Given the description of an element on the screen output the (x, y) to click on. 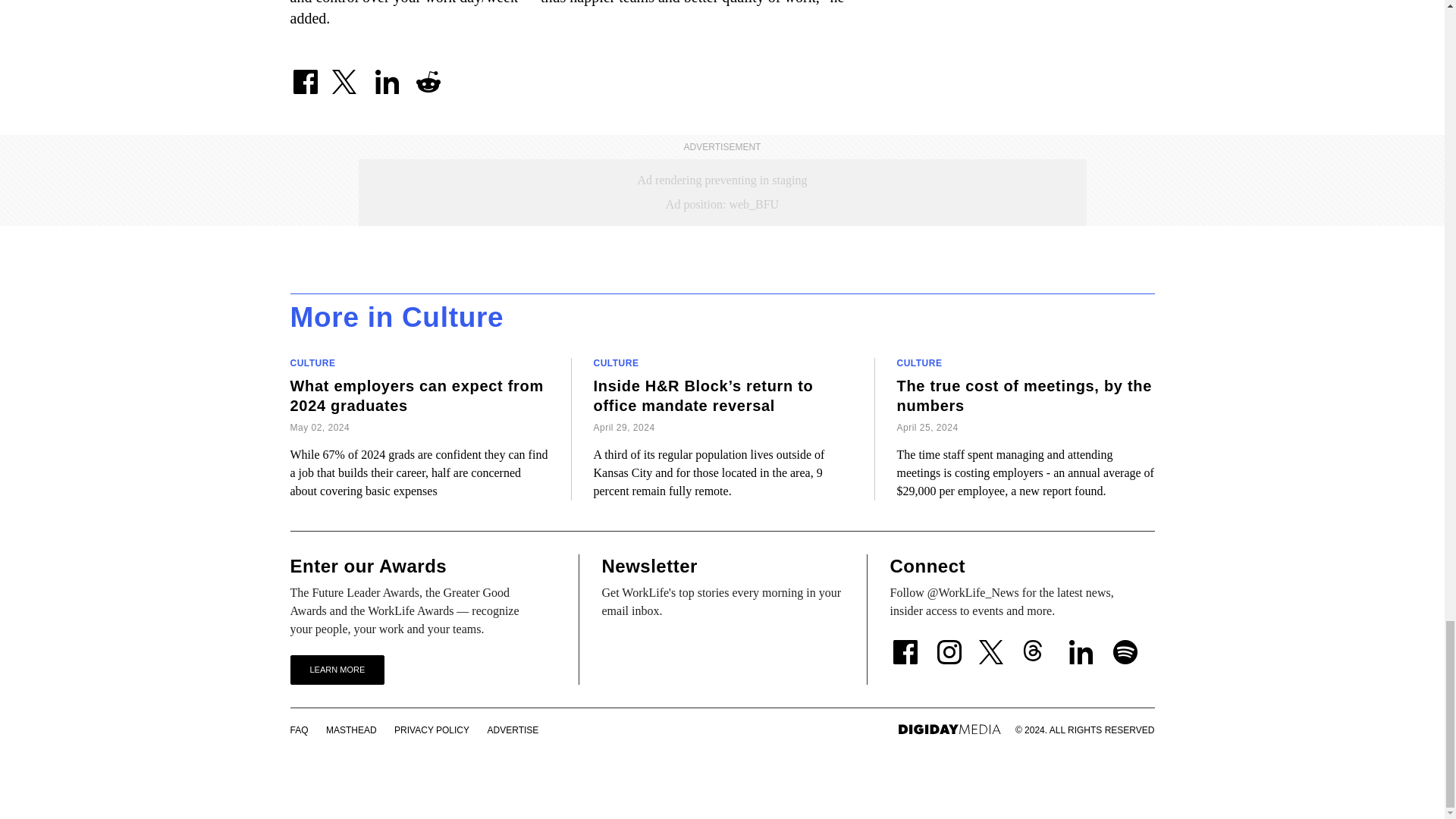
Share on Twitter (345, 74)
Share on LinkedIn (386, 74)
Share on Facebook (304, 74)
Share on Reddit (427, 74)
